Given the description of an element on the screen output the (x, y) to click on. 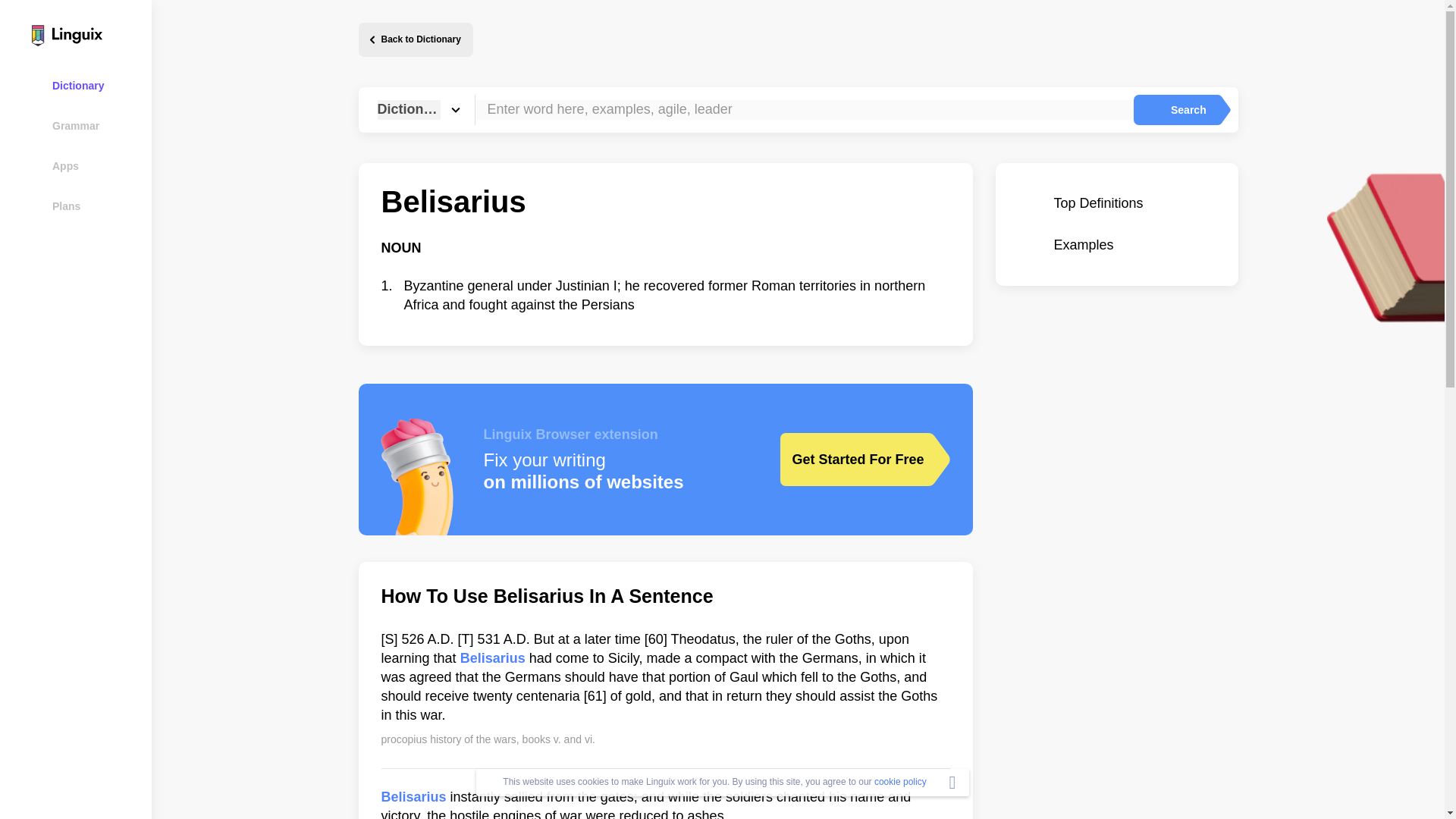
Apps (84, 165)
cookie policy (900, 781)
Top Definitions (1115, 203)
Get Started For Free (852, 459)
Grammar (84, 126)
Examples (1115, 244)
Back to Dictionary (414, 39)
Search (1175, 110)
Dictionary (84, 85)
Plans (84, 206)
